Given the description of an element on the screen output the (x, y) to click on. 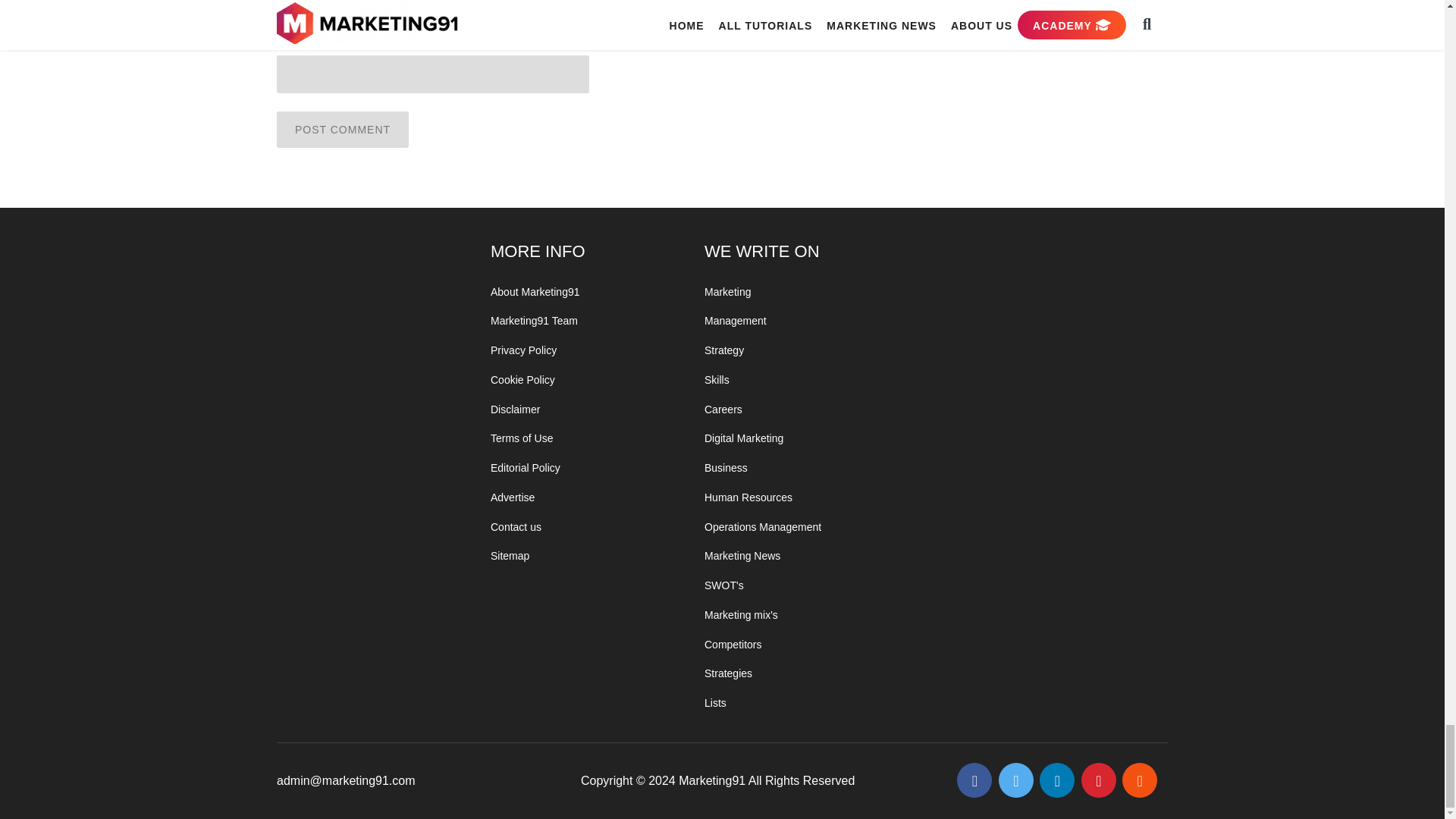
Post Comment (342, 129)
